Given the description of an element on the screen output the (x, y) to click on. 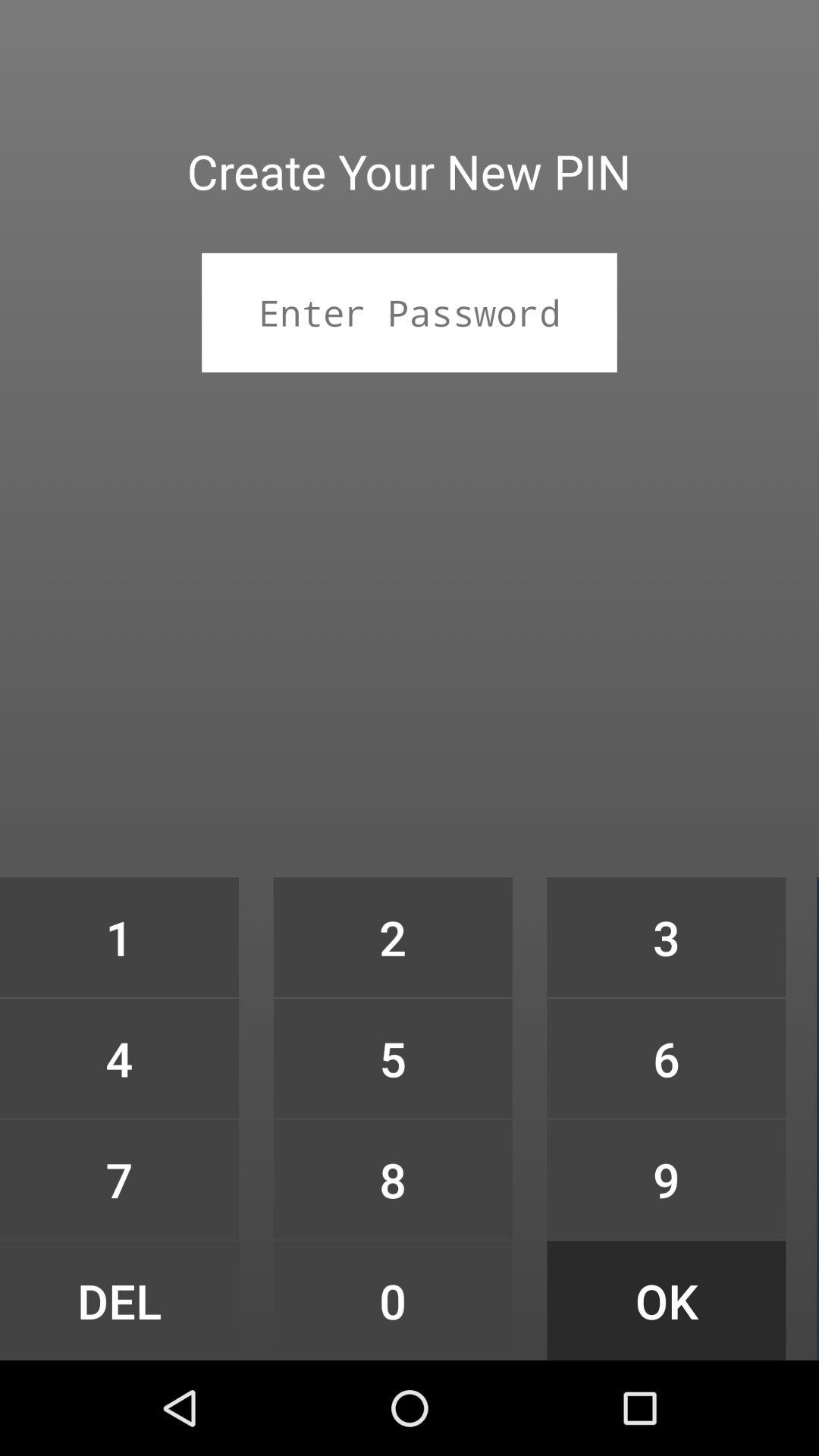
choose ok icon (666, 1300)
